Given the description of an element on the screen output the (x, y) to click on. 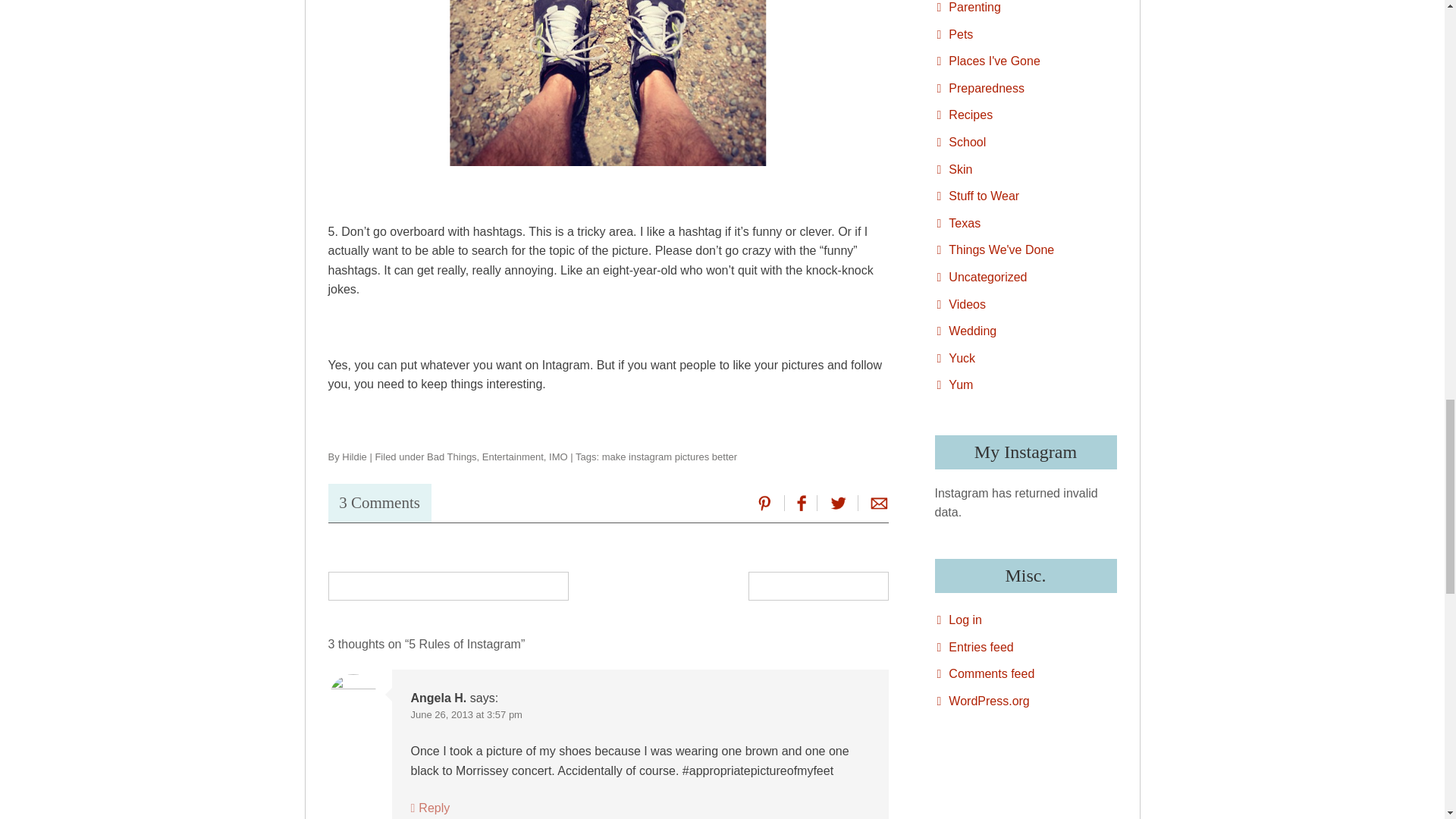
how to not kill your bored kids this summer (448, 585)
3 Comments (378, 502)
the confederate car trip (818, 585)
IMO (557, 456)
Hildie (354, 456)
Reply (429, 807)
Bad Things (451, 456)
make instagram pictures better (669, 456)
Entertainment (512, 456)
June 26, 2013 at 3:57 pm (466, 714)
